Given the description of an element on the screen output the (x, y) to click on. 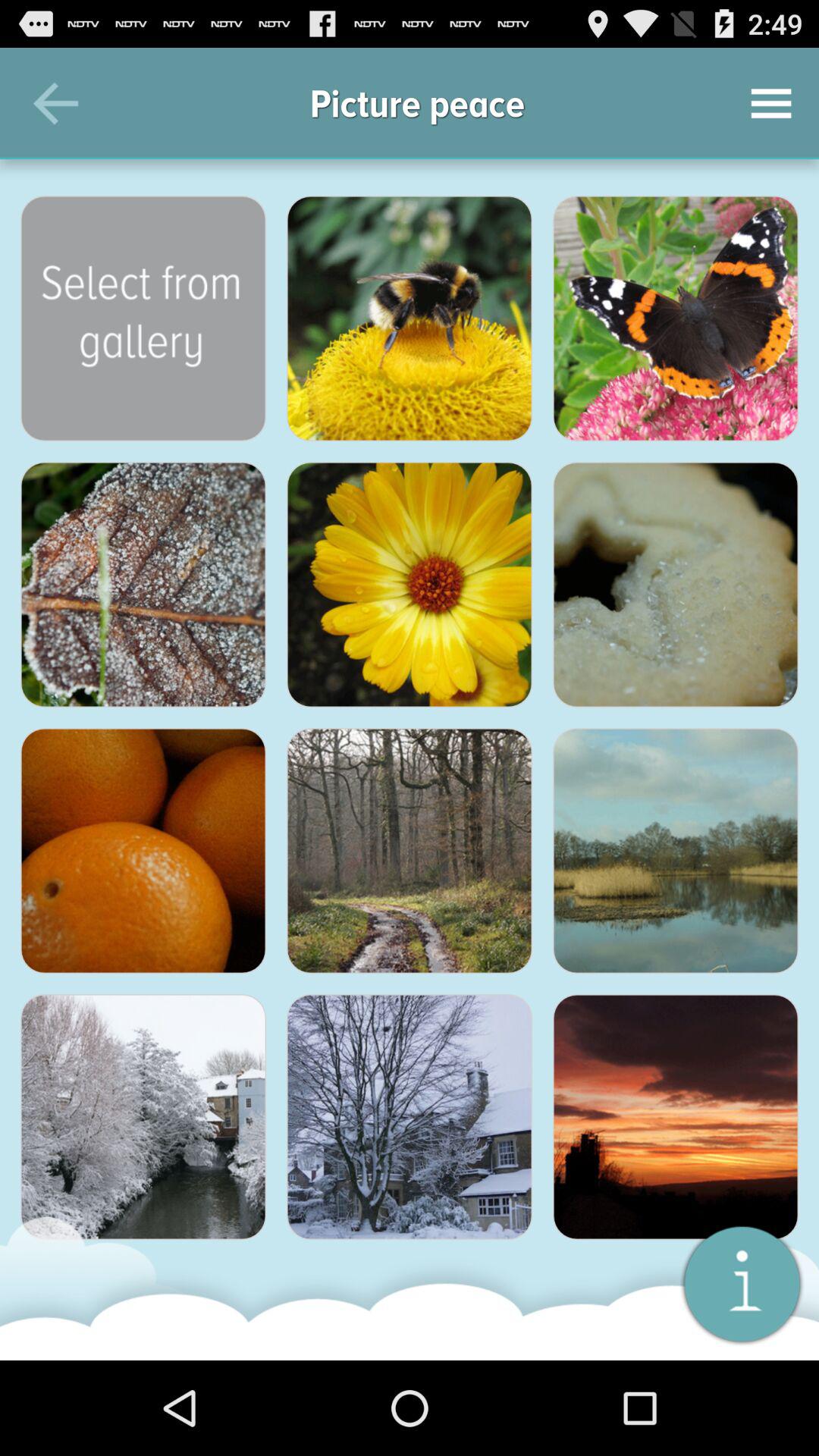
go to emojios (675, 1116)
